Given the description of an element on the screen output the (x, y) to click on. 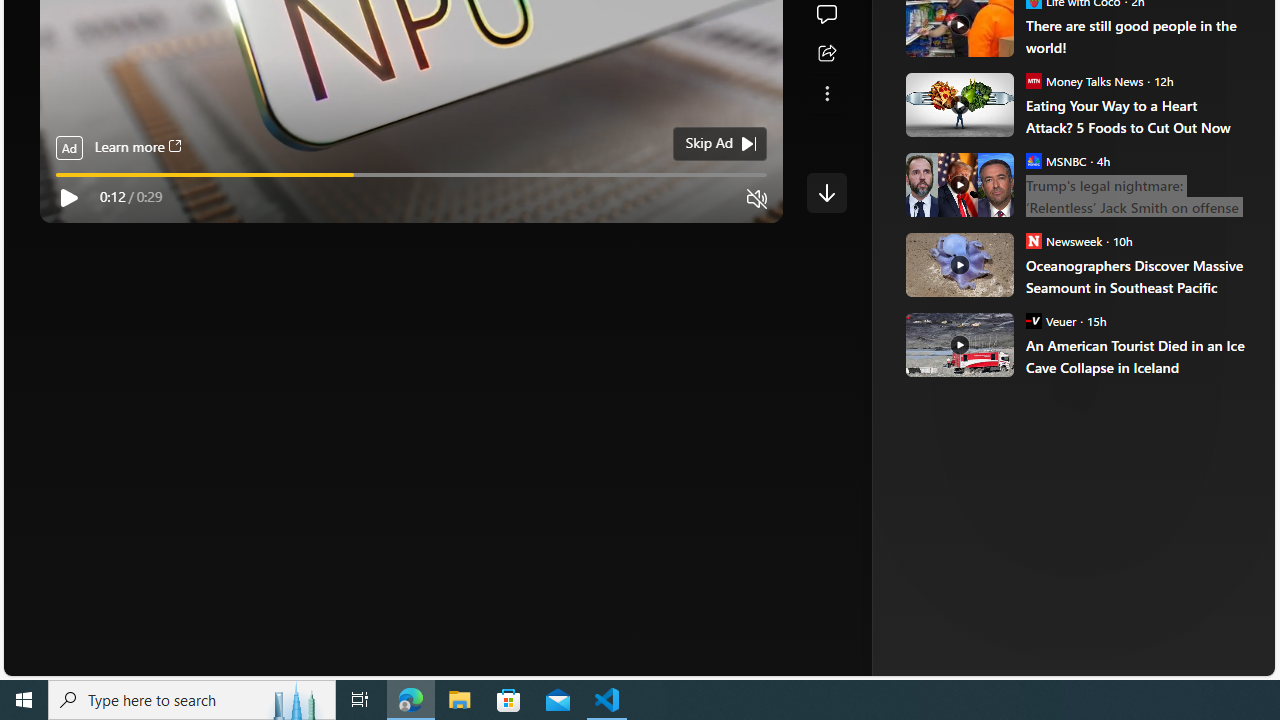
video progress bar (411, 174)
Money Talks News (1033, 80)
Play (68, 197)
Learn more (137, 147)
Eating Your Way to a Heart Attack? 5 Foods to Cut Out Now (958, 104)
Money Talks News Money Talks News (1084, 80)
